Given the description of an element on the screen output the (x, y) to click on. 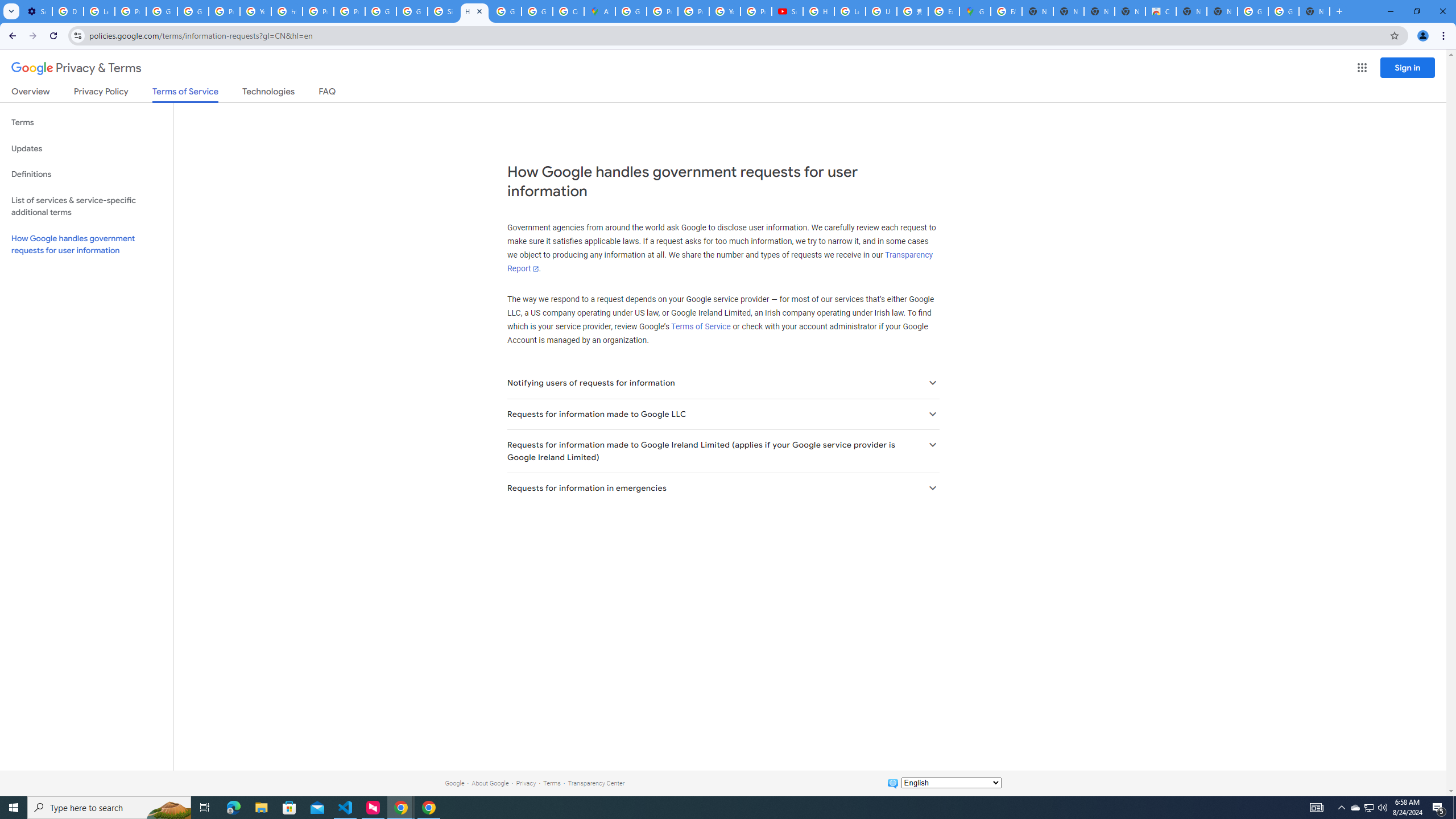
Requests for information made to Google LLC (722, 413)
Requests for information in emergencies (722, 488)
Privacy Help Center - Policies Help (693, 11)
Chrome Web Store (1160, 11)
